Given the description of an element on the screen output the (x, y) to click on. 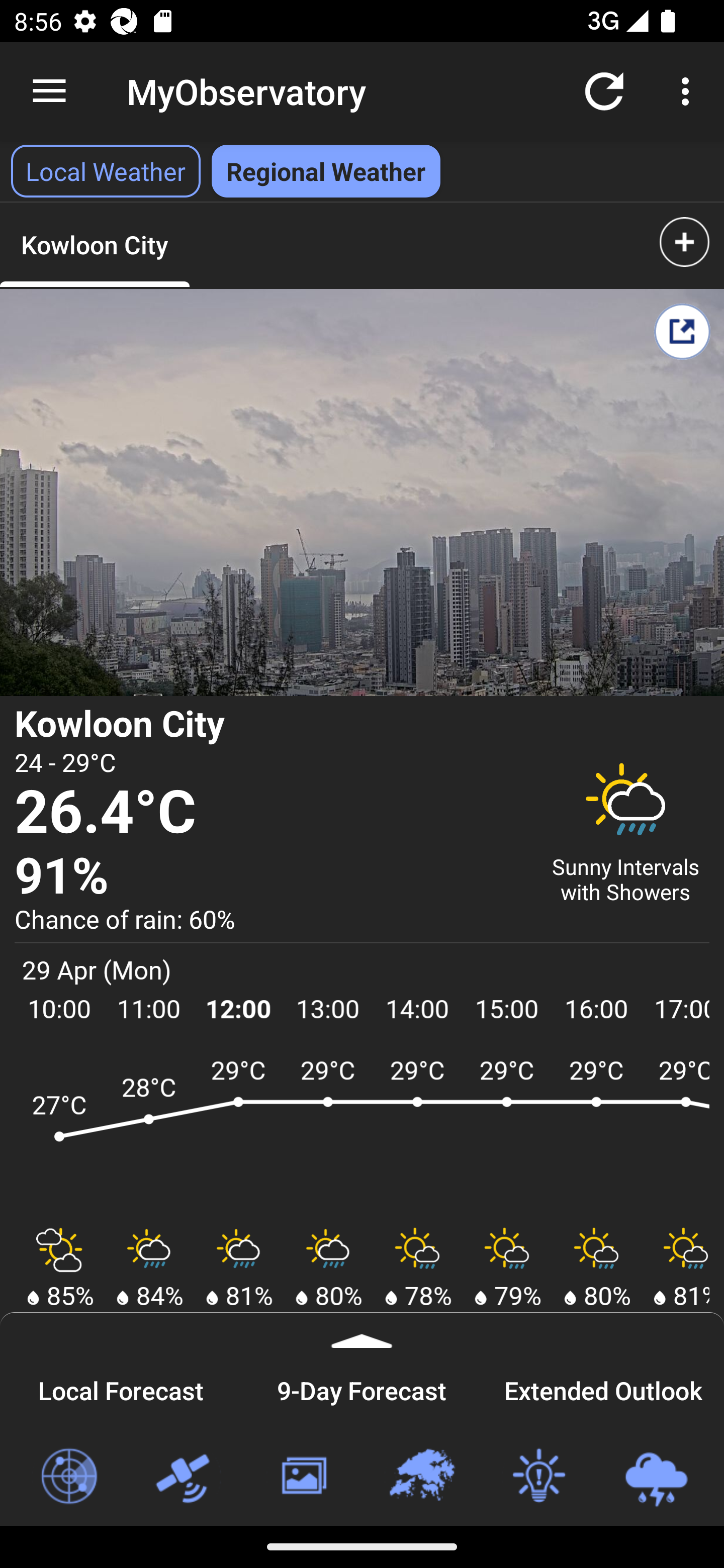
Navigate up (49, 91)
Refresh (604, 90)
More options (688, 90)
Local Weather Select Local Weather (105, 170)
Regional Weather Regional Weather selected (325, 170)
Add (684, 241)
Share My Weather Report (681, 330)
26.4°C Temperature
26.4 degree Celsius (270, 811)
91% Relative Humidity
91 percent (270, 876)
ARWF (361, 1134)
Expand (362, 1330)
Local Forecast (120, 1387)
Extended Outlook (603, 1387)
Radar Images (68, 1476)
Satellite Images (185, 1476)
Weather Photos (302, 1476)
Regional Weather (420, 1476)
Weather Tips (537, 1476)
Loc-based Rain & Lightning Forecast (655, 1476)
